Given the description of an element on the screen output the (x, y) to click on. 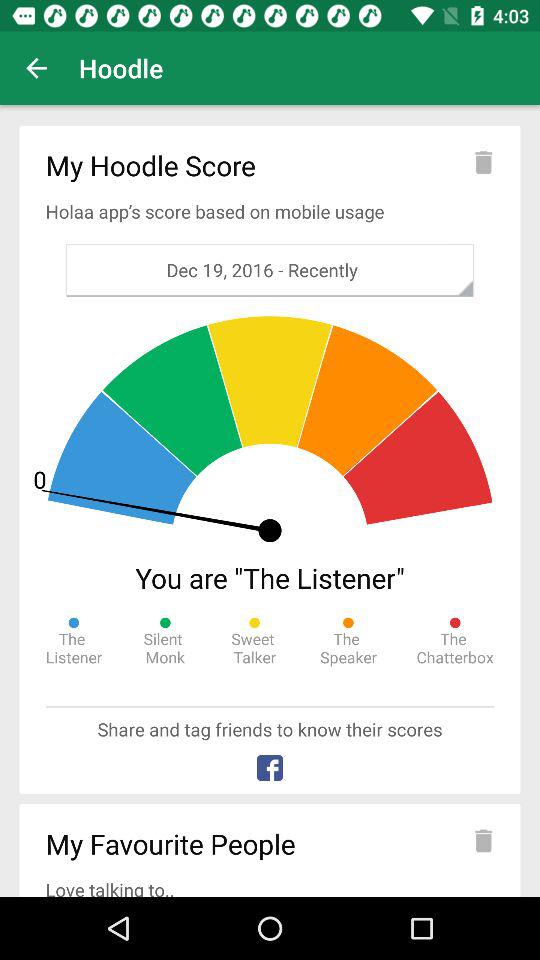
go to delete (483, 162)
